Given the description of an element on the screen output the (x, y) to click on. 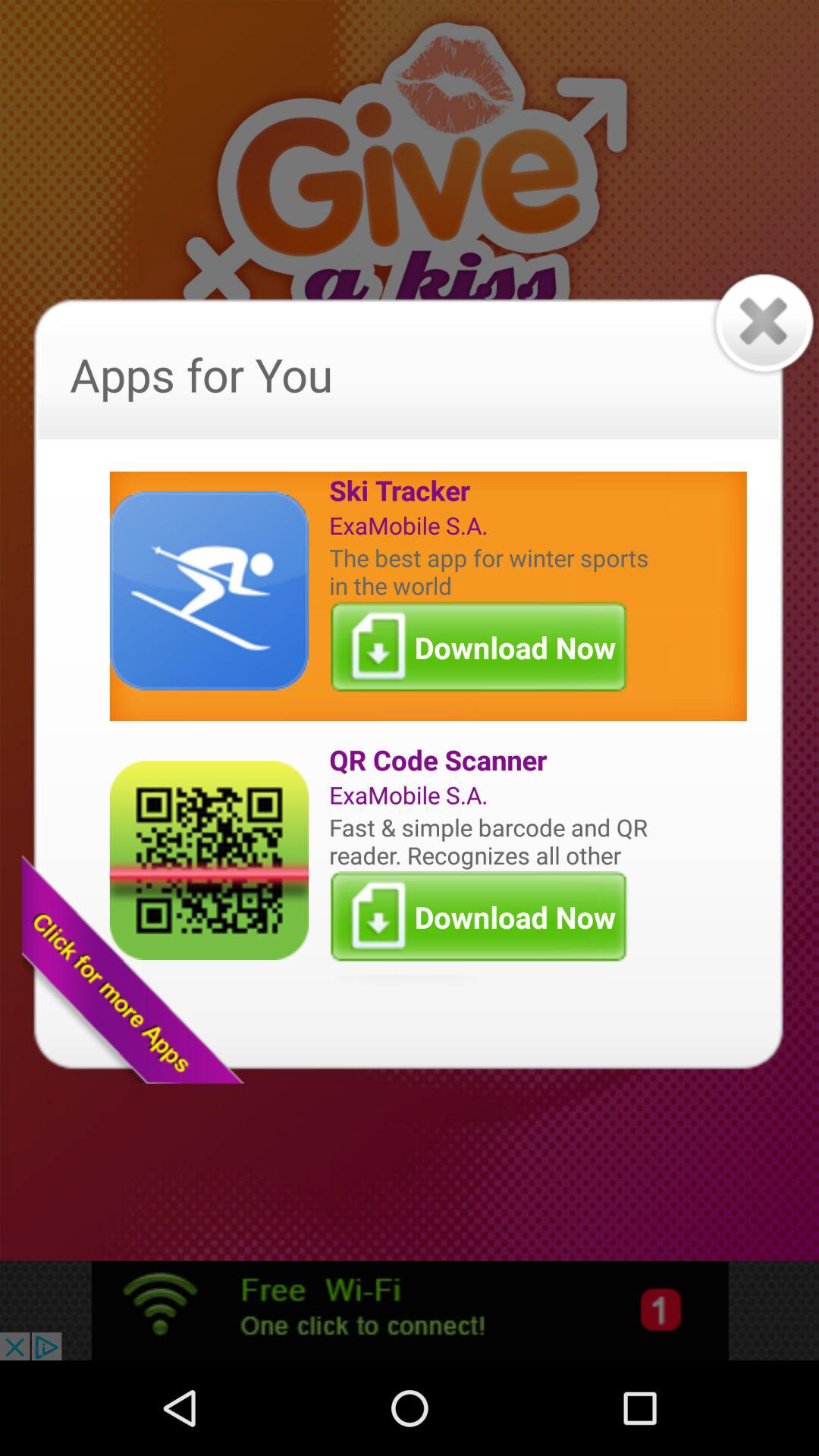
click the app below examobile s.a. (492, 571)
